Given the description of an element on the screen output the (x, y) to click on. 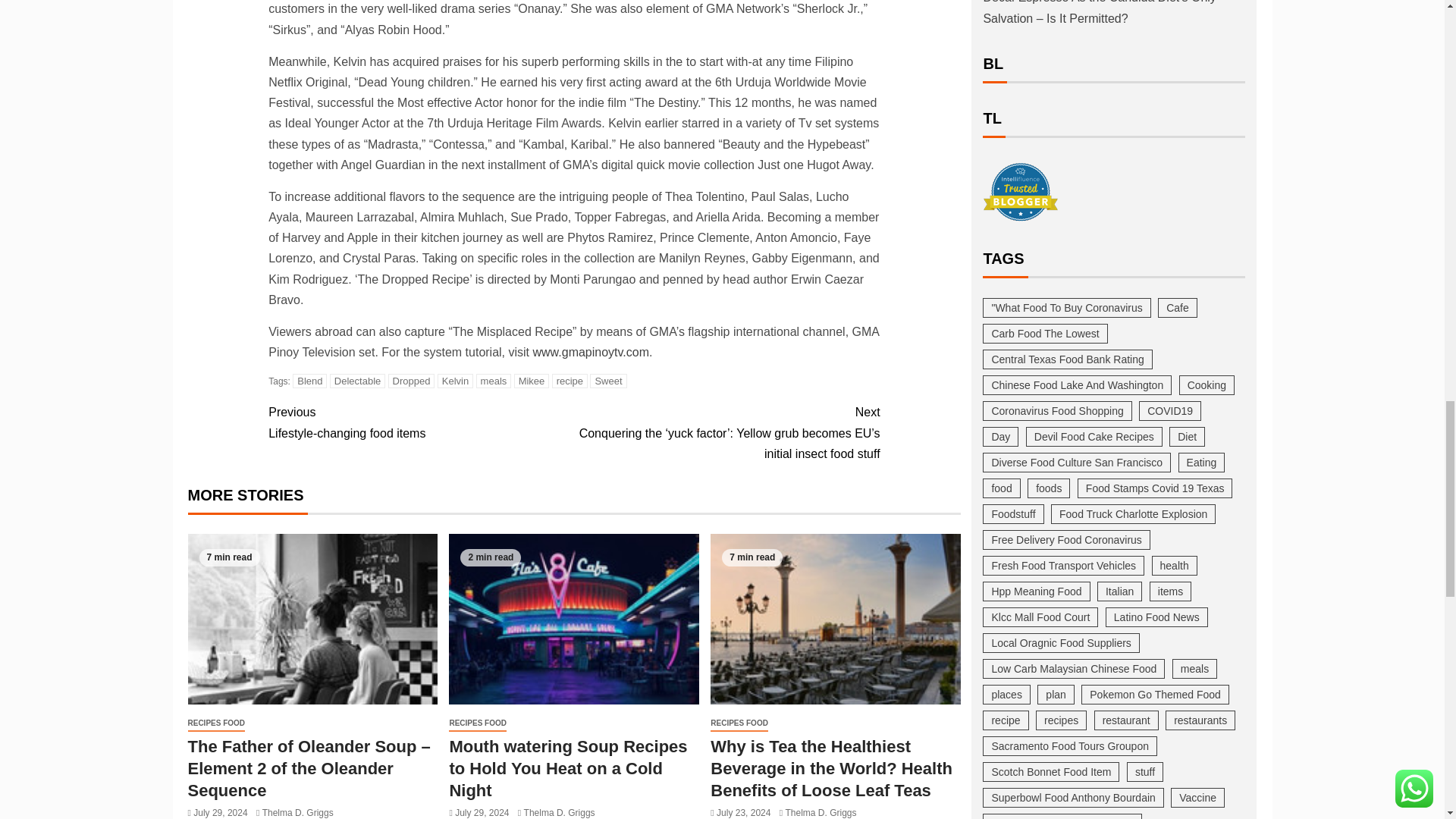
Delectable (357, 380)
www.gmapinoytv.com (590, 351)
Dropped (411, 380)
Mouth watering Soup Recipes to Hold You Heat on a Cold Night (573, 618)
Blend (309, 380)
